Given the description of an element on the screen output the (x, y) to click on. 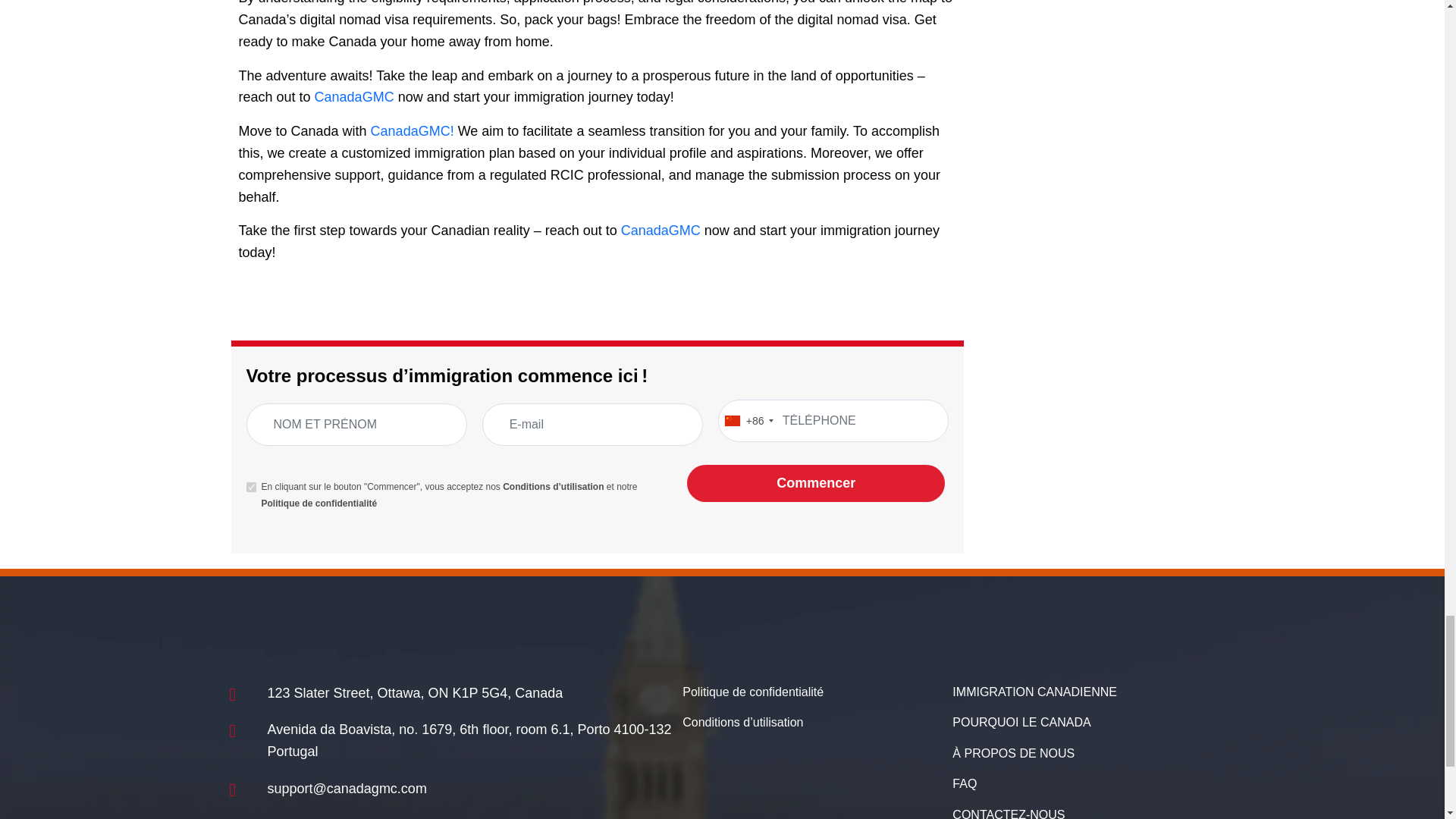
1 (251, 487)
Commencer (815, 483)
